Given the description of an element on the screen output the (x, y) to click on. 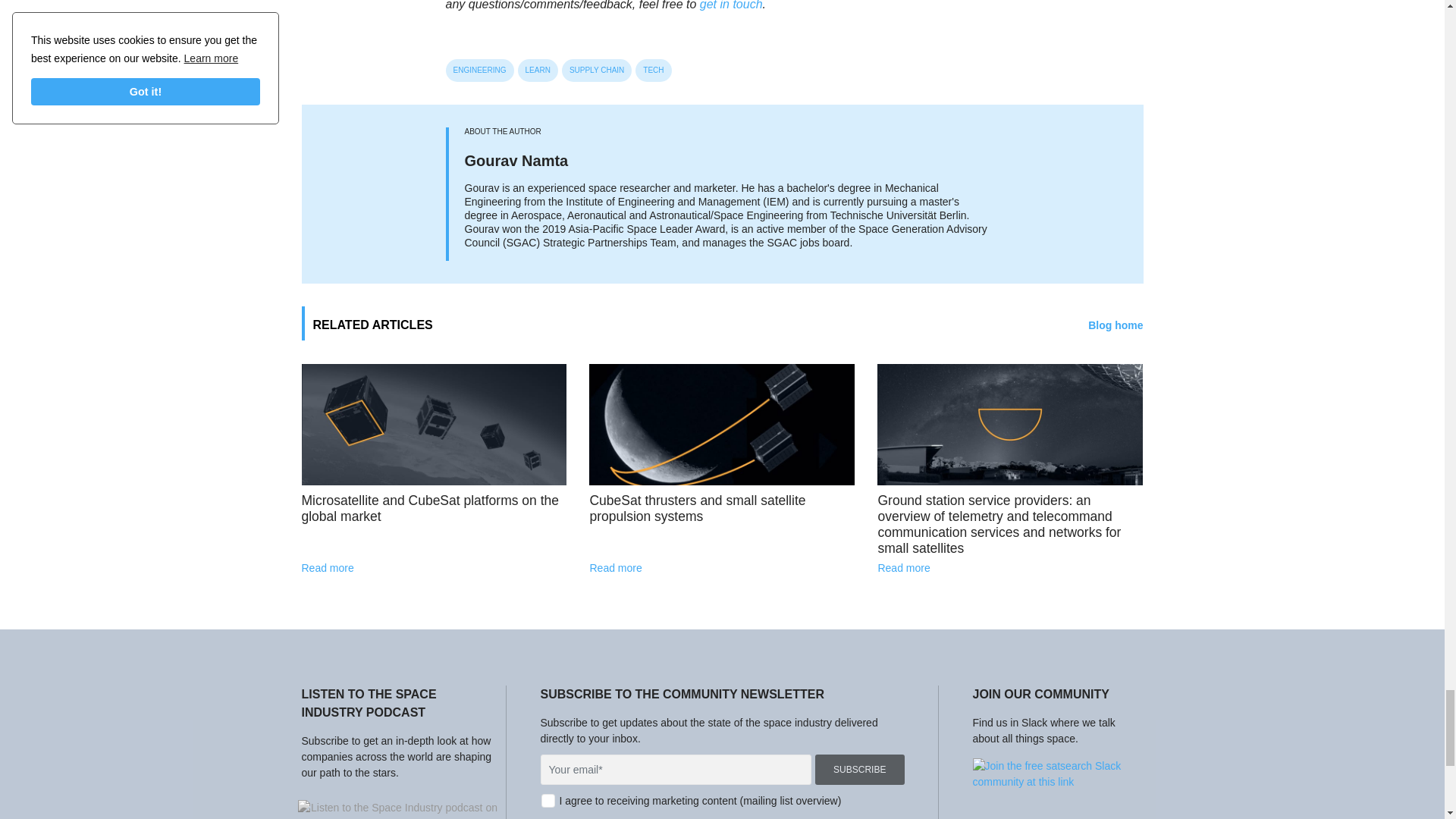
Subscribe (859, 769)
